Given the description of an element on the screen output the (x, y) to click on. 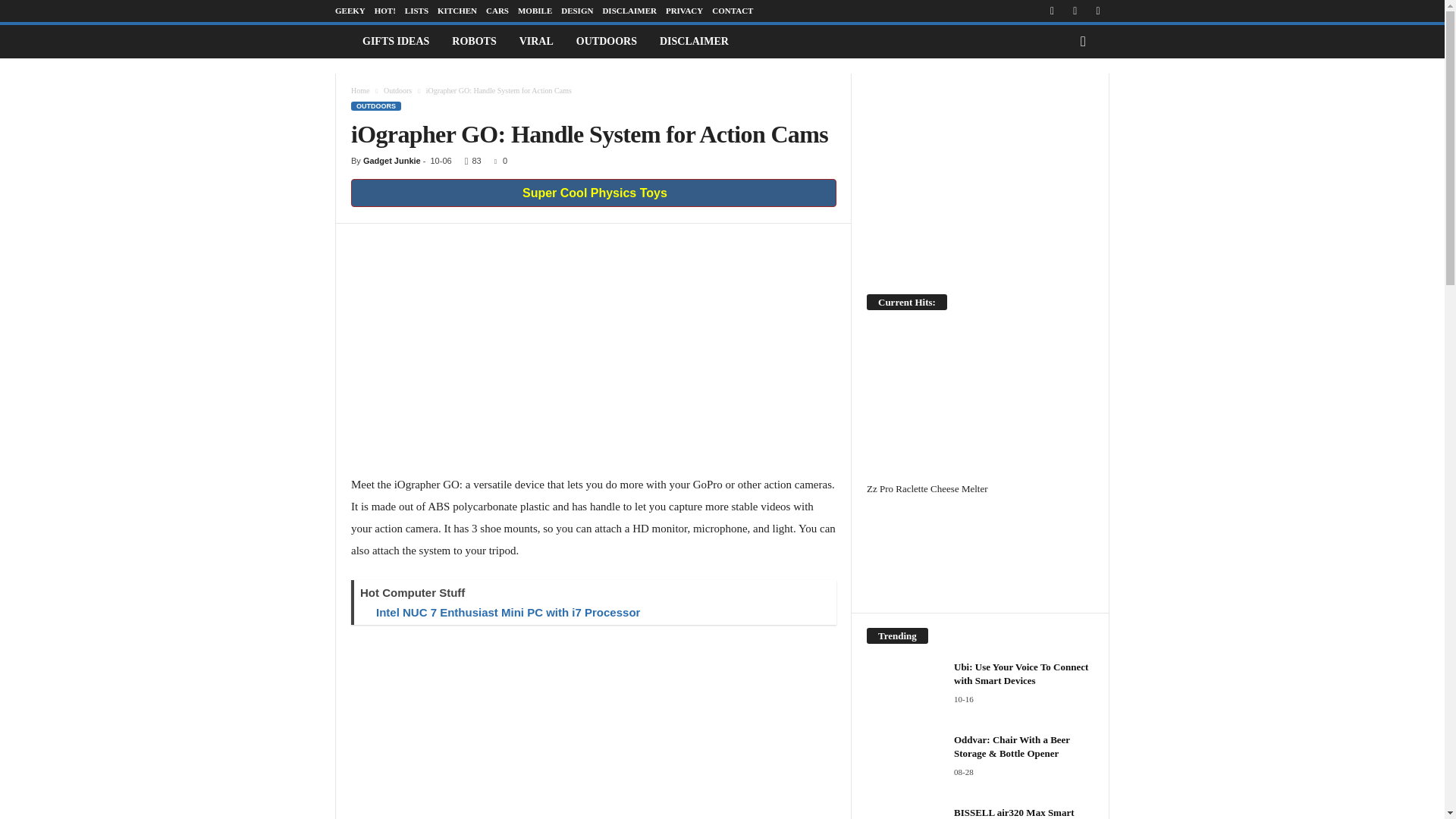
HOT! (385, 10)
LISTS (416, 10)
GEEKY (349, 10)
